Given the description of an element on the screen output the (x, y) to click on. 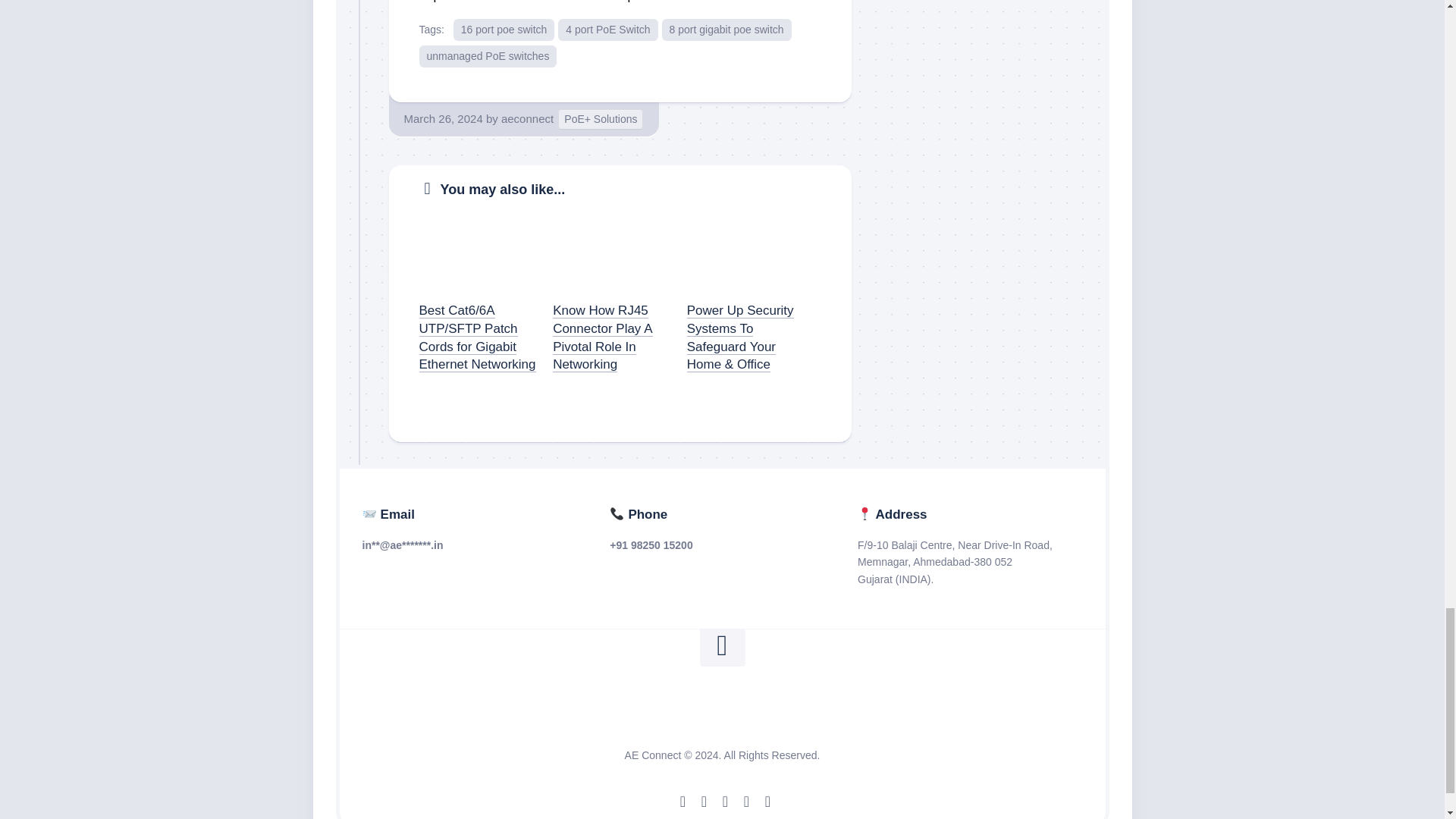
LinkedIn (746, 801)
Facebook (682, 801)
Pinterest (767, 801)
Twitter (703, 801)
Posts by aeconnect (526, 118)
Instagram (724, 801)
